Given the description of an element on the screen output the (x, y) to click on. 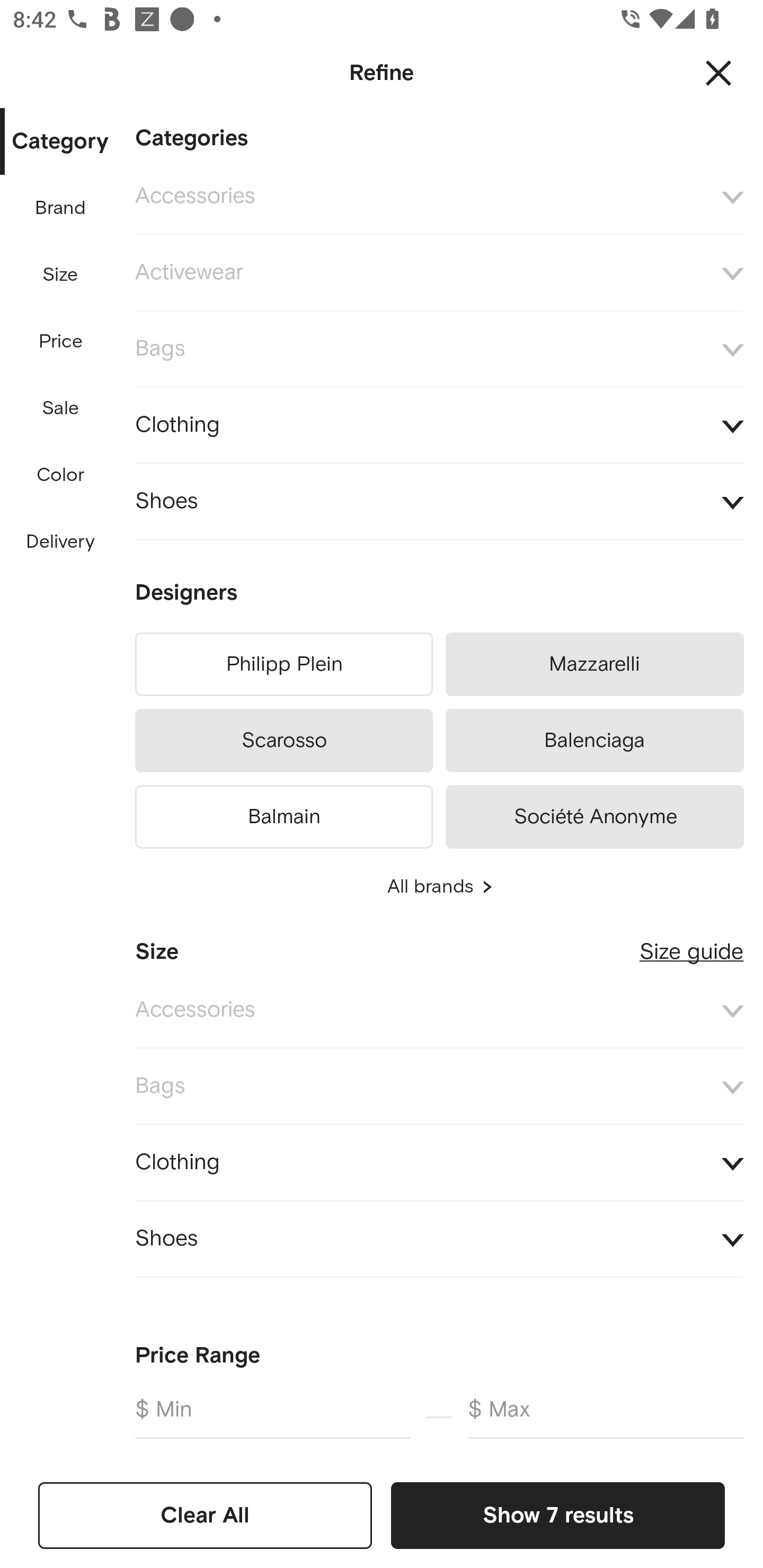
Category (60, 141)
Accessories (439, 196)
Brand (60, 208)
Activewear (439, 272)
Size (60, 274)
Price (60, 342)
Bags (439, 348)
Sale (60, 408)
Clothing (439, 425)
Color (60, 475)
Shoes (439, 501)
Delivery (60, 542)
Philipp Plein (283, 663)
Mazzarelli (594, 663)
Scarosso (283, 740)
Balenciaga (594, 740)
Balmain (283, 813)
Société Anonyme (594, 813)
All brands (439, 886)
Size guide (691, 944)
Accessories (439, 1010)
Bags (439, 1086)
Clothing (439, 1162)
Shoes (439, 1239)
$ Min (272, 1416)
$ Max (605, 1416)
Clear All (205, 1515)
Show 7 results (557, 1515)
